Given the description of an element on the screen output the (x, y) to click on. 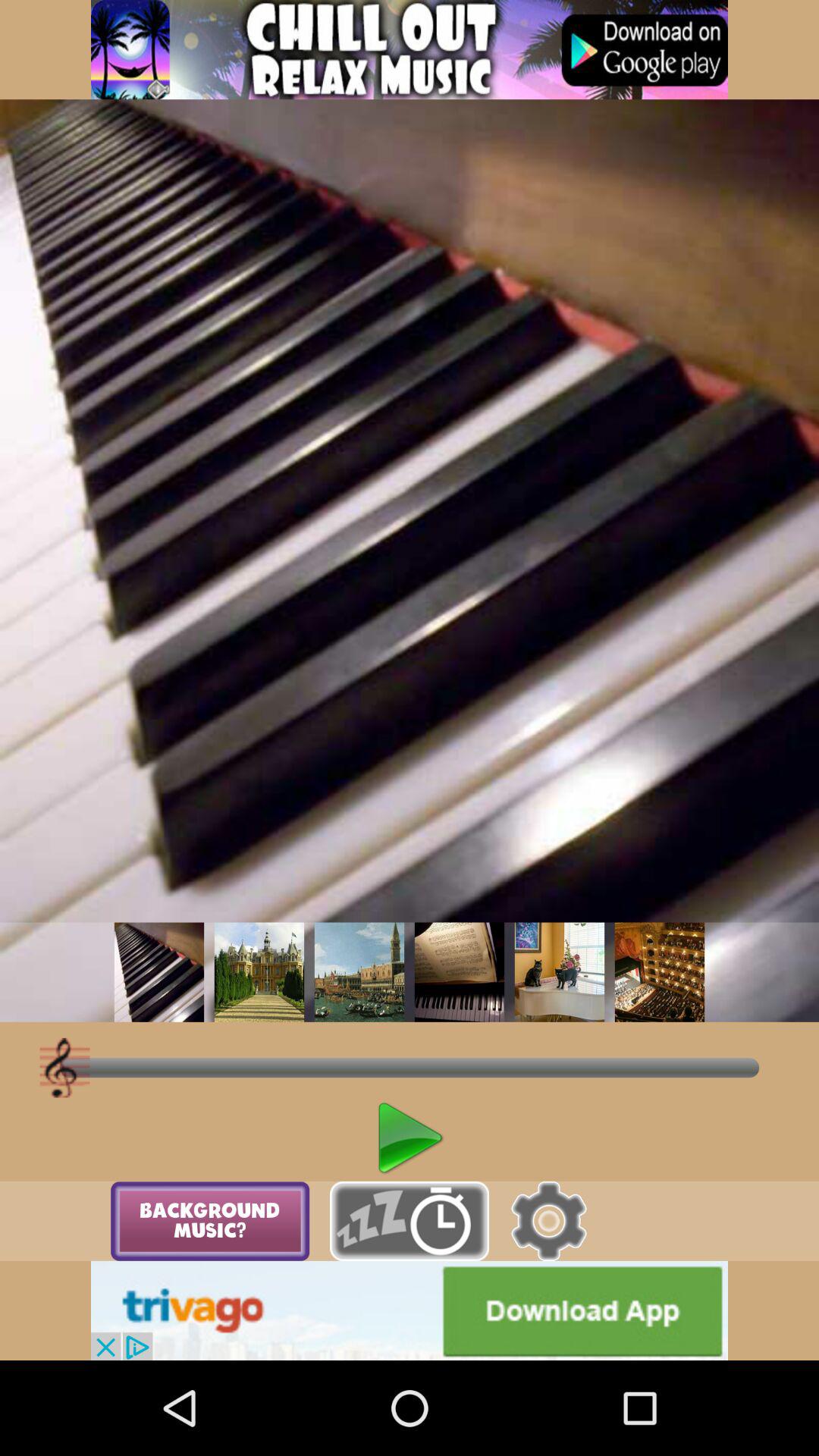
change piano option (559, 972)
